Given the description of an element on the screen output the (x, y) to click on. 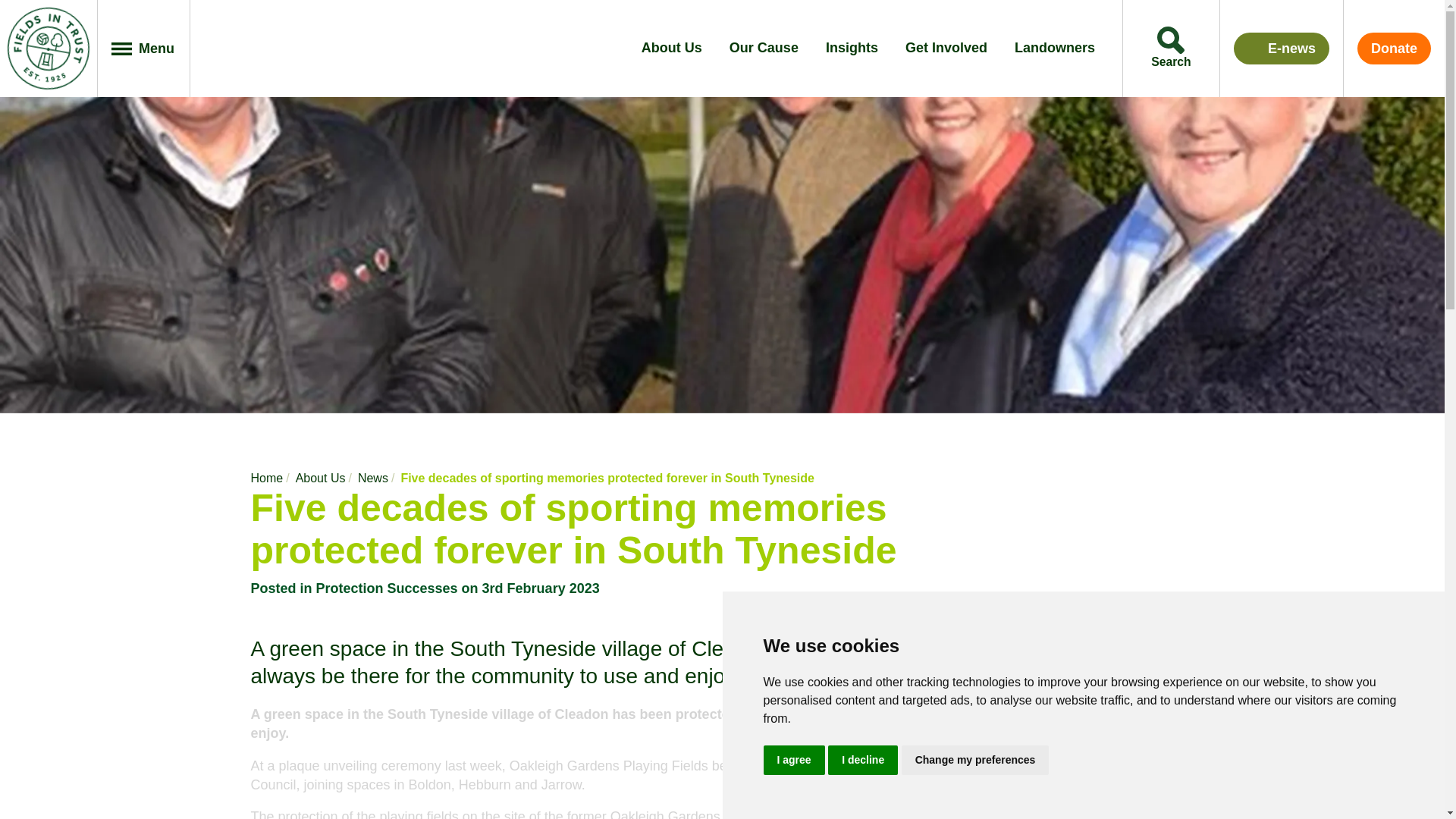
E-news (1281, 48)
Donate (1393, 48)
About Us (671, 49)
Menu (143, 48)
Get Involved (946, 49)
Change my preferences (975, 758)
I agree (793, 758)
Landowners (1054, 49)
Our Cause (763, 49)
